Given the description of an element on the screen output the (x, y) to click on. 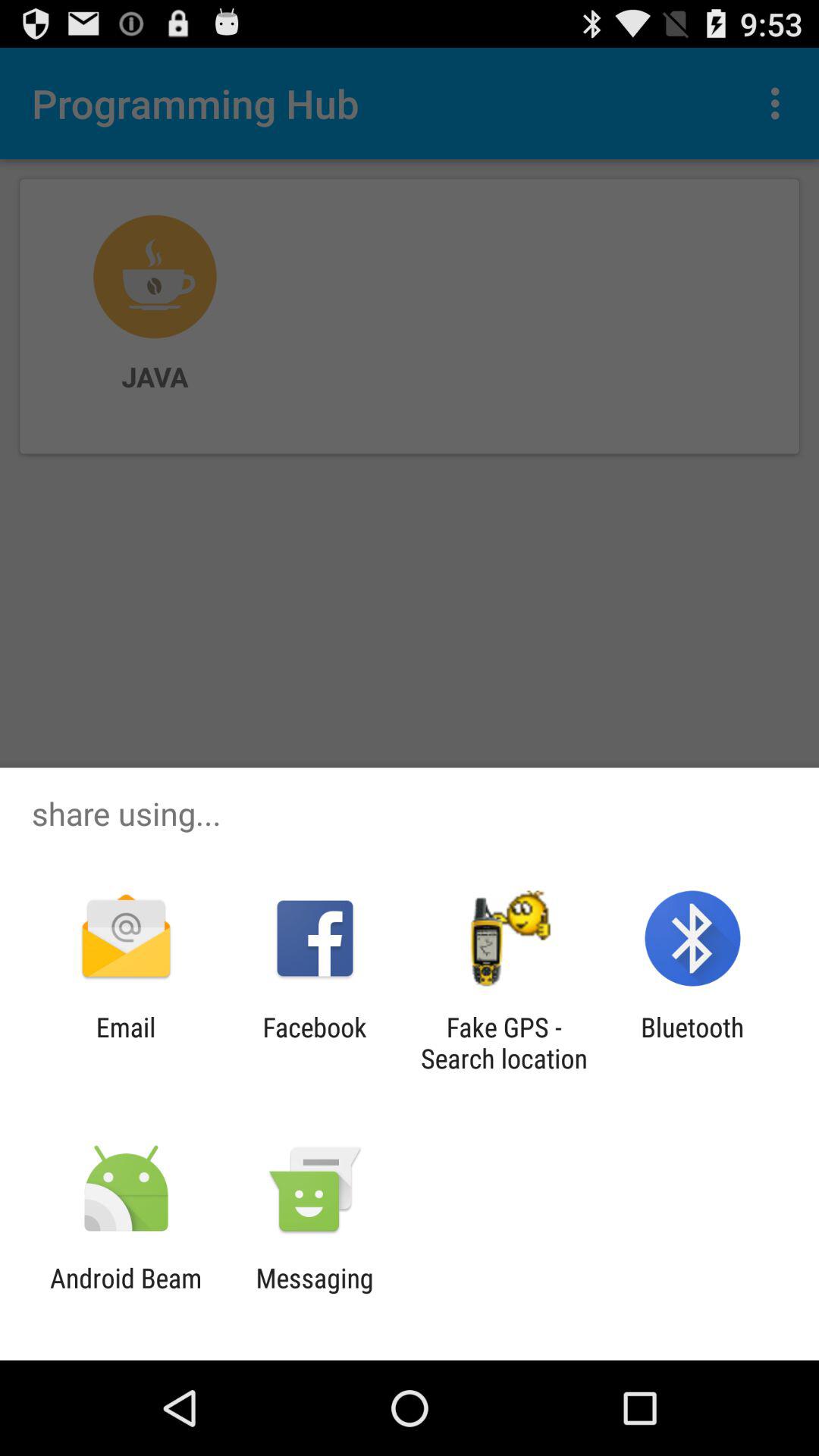
open icon next to the messaging app (125, 1293)
